Given the description of an element on the screen output the (x, y) to click on. 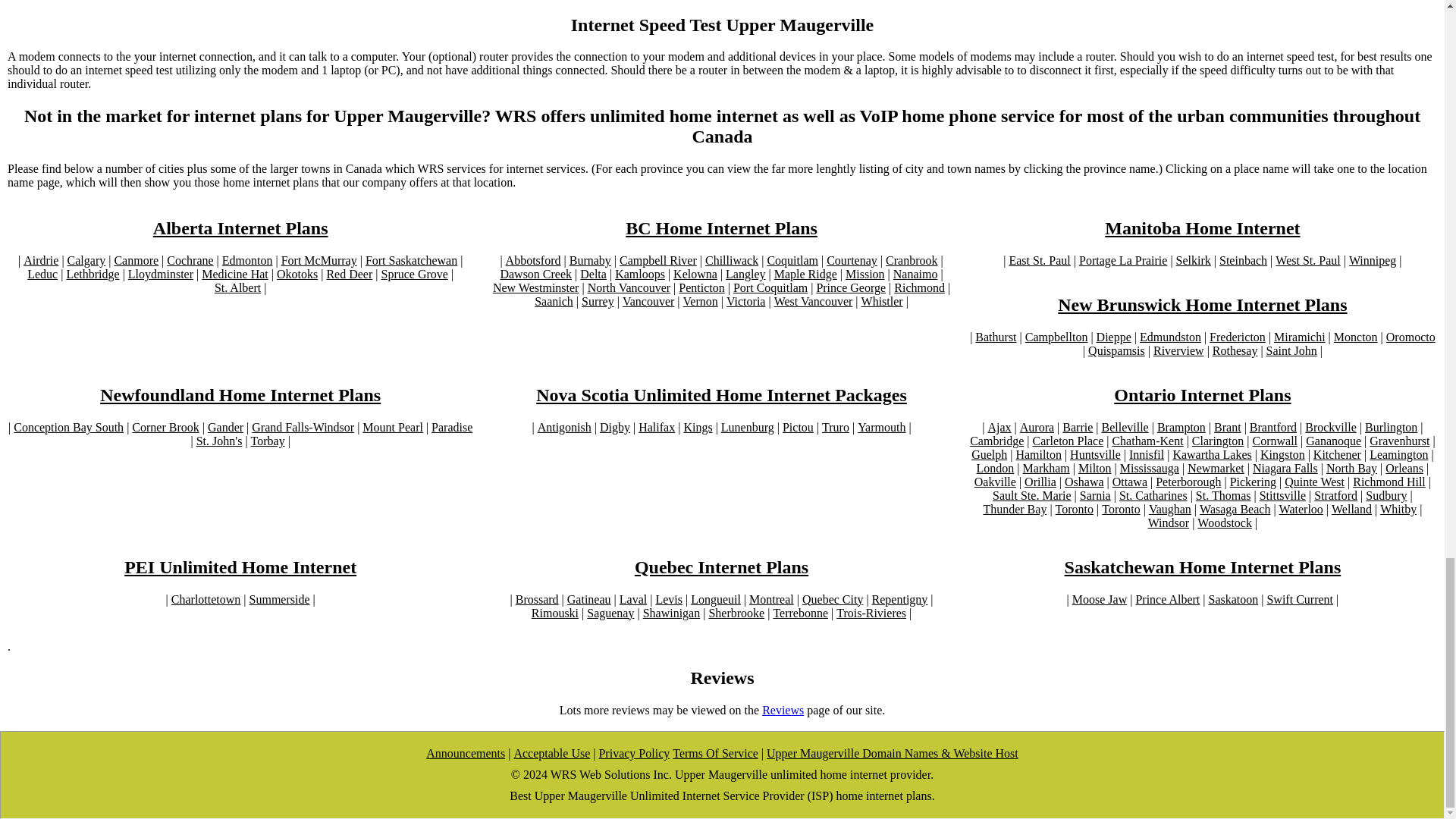
Fort McMurray (318, 260)
Spruce Grove (413, 274)
Cochrane (189, 260)
Canmore (135, 260)
Airdrie (40, 260)
Lethbridge (92, 274)
Okotoks (296, 274)
Lloydminster (160, 274)
Edmonton (247, 260)
Calgary (86, 260)
